Given the description of an element on the screen output the (x, y) to click on. 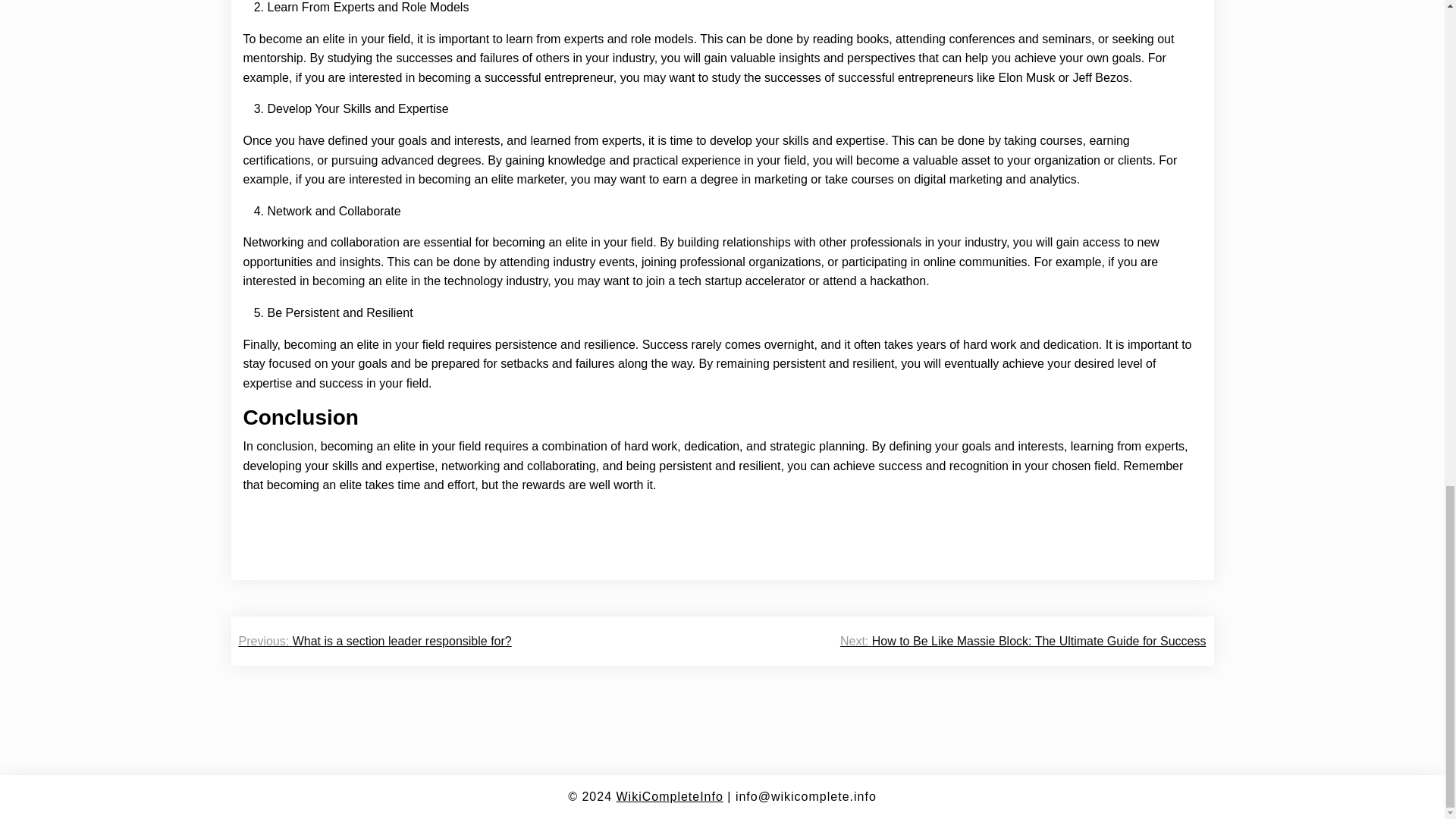
WikiCompleteInfo (668, 796)
Previous: What is a section leader responsible for? (374, 641)
